Given the description of an element on the screen output the (x, y) to click on. 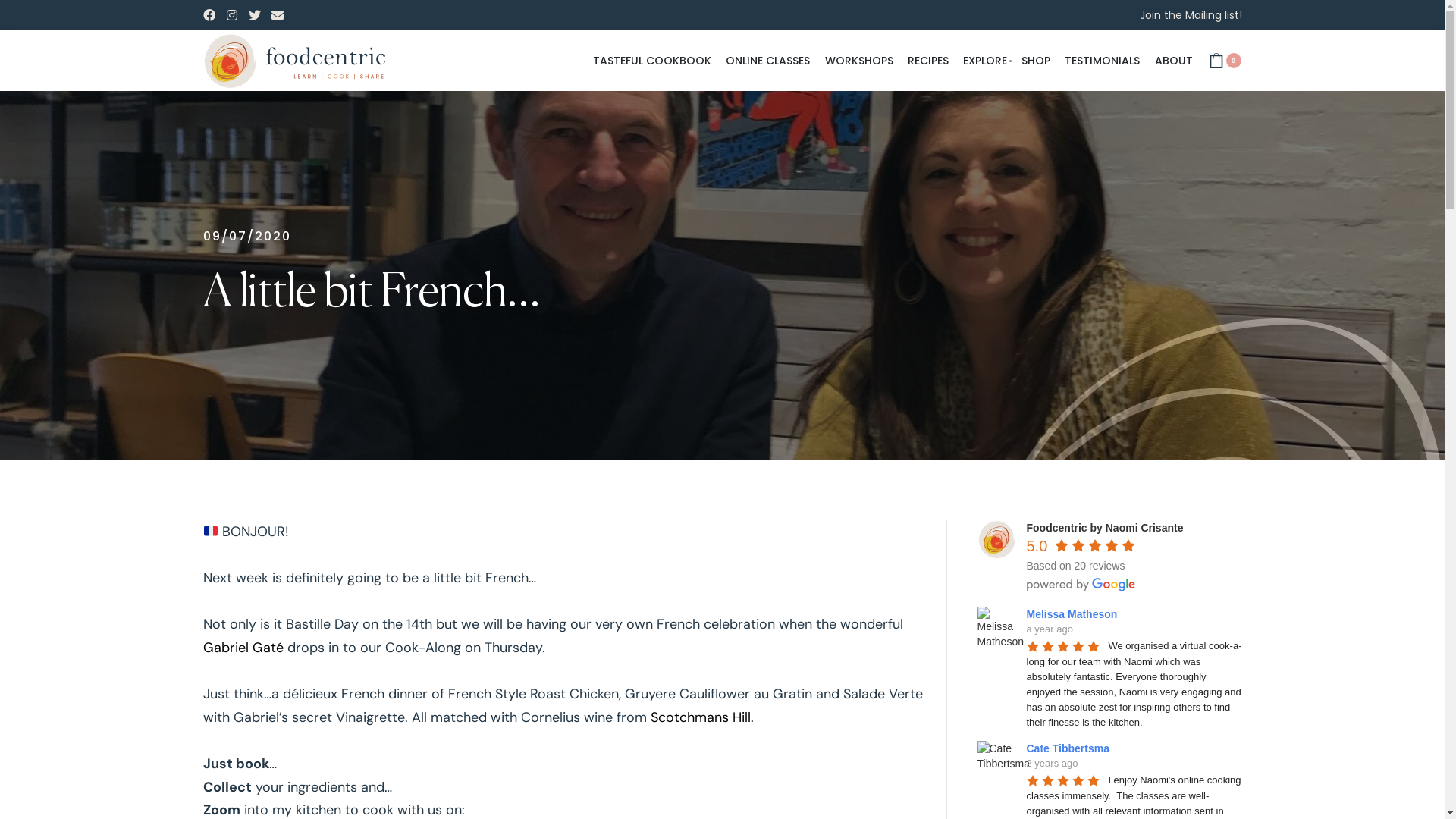
EXPLORE Element type: text (985, 61)
Foodcentric by Naomi Crisante Element type: hover (995, 539)
Cate Tibbertsma Element type: text (1069, 748)
0 Element type: text (1224, 60)
powered by Google Element type: hover (1080, 584)
Cate Tibbertsma Element type: hover (995, 759)
Melissa Matheson Element type: text (1074, 614)
WORKSHOPS Element type: text (859, 61)
Scotchmans Hill. Element type: text (701, 717)
Melissa Matheson Element type: hover (995, 625)
ABOUT Element type: text (1173, 61)
ONLINE CLASSES Element type: text (767, 61)
TASTEFUL COOKBOOK Element type: text (652, 61)
Foodcentric by Naomi Crisante Element type: text (1104, 527)
SHOP Element type: text (1035, 61)
RECIPES Element type: text (927, 61)
Join the Mailing list! Element type: text (1190, 14)
TESTIMONIALS Element type: text (1101, 61)
